Given the description of an element on the screen output the (x, y) to click on. 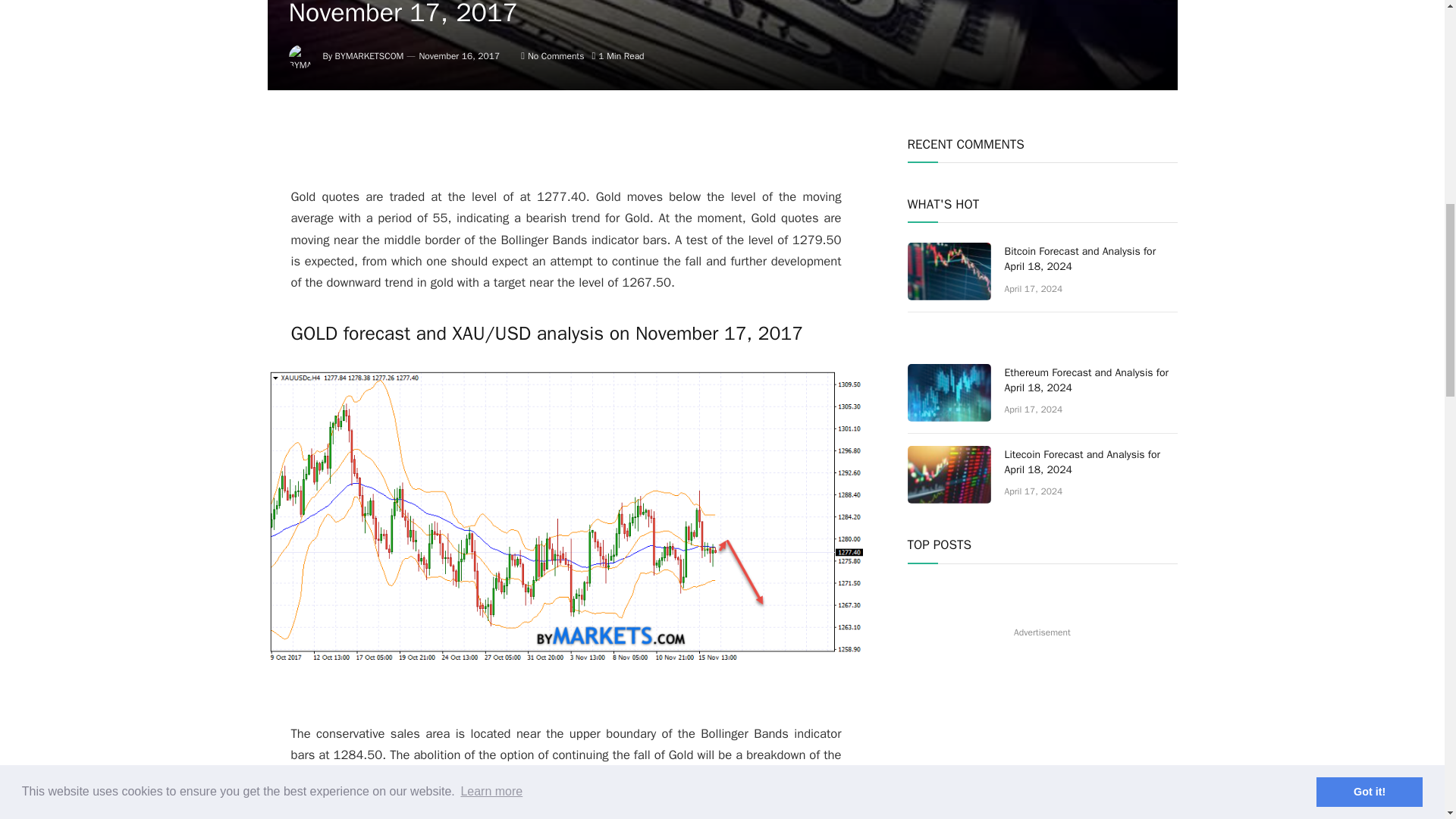
Posts by BYMARKETSCOM (369, 55)
